Given the description of an element on the screen output the (x, y) to click on. 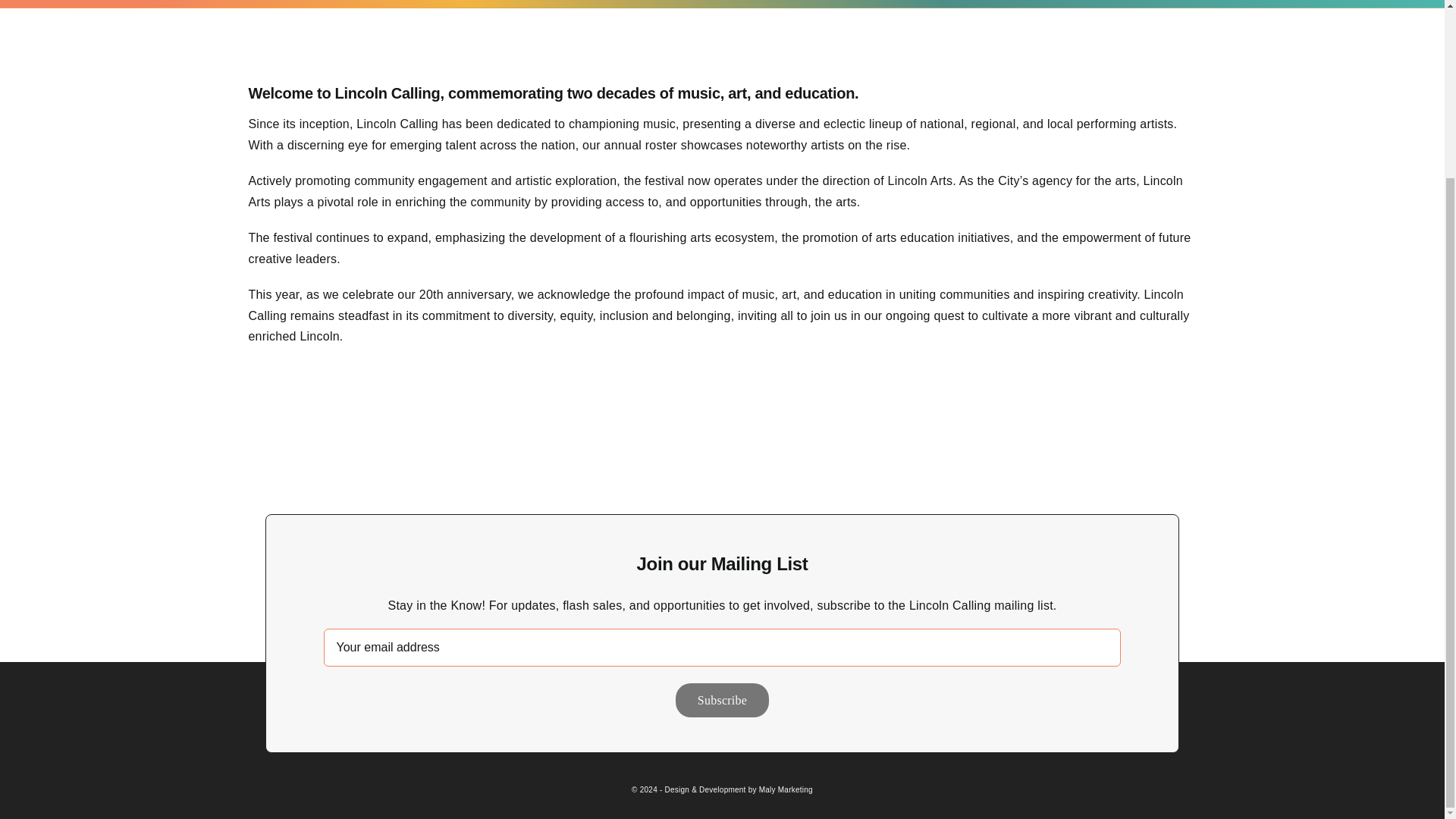
Subscribe (721, 699)
Subscribe (721, 699)
Maly Marketing (785, 789)
